Given the description of an element on the screen output the (x, y) to click on. 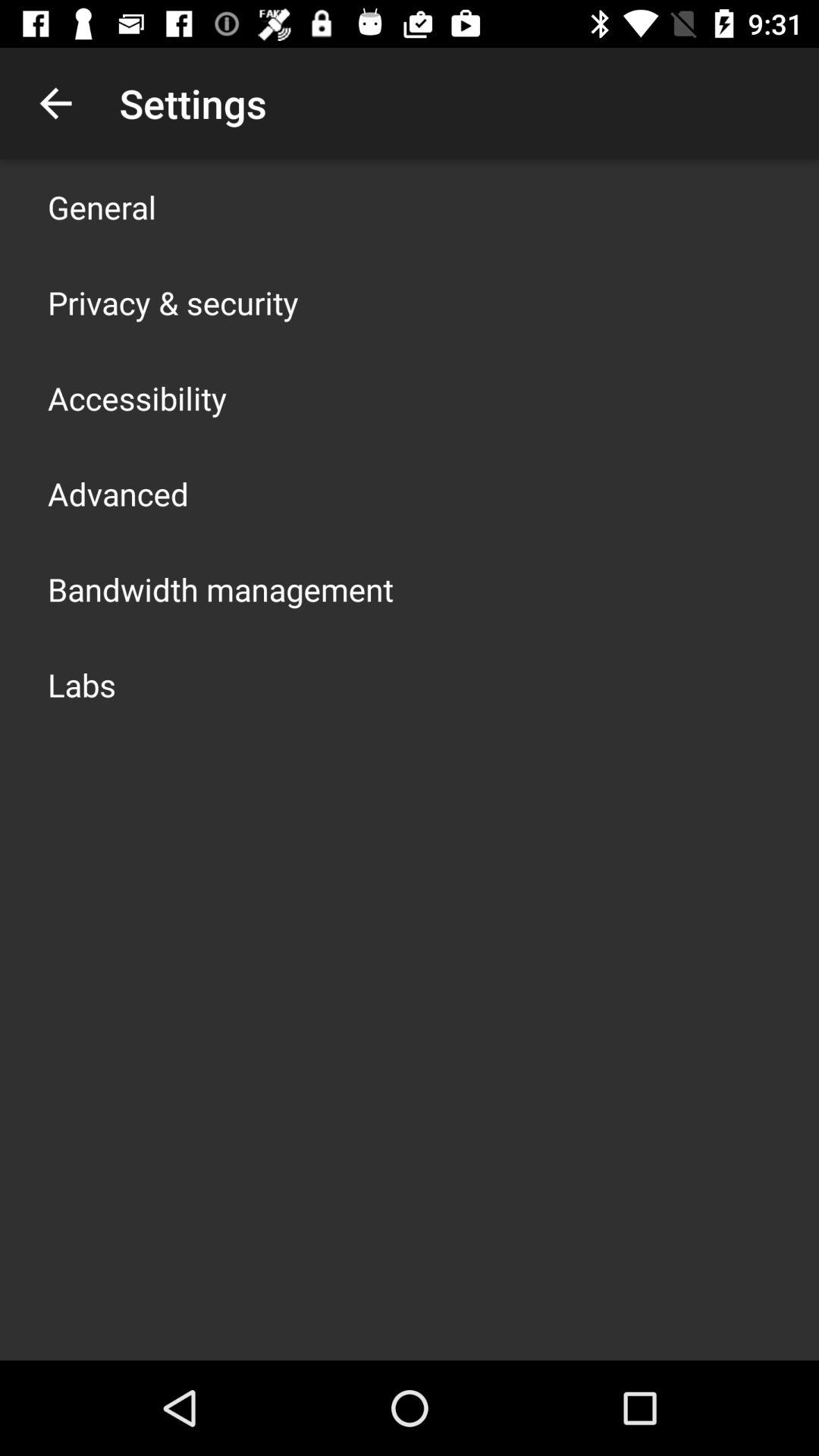
click the item next to the settings app (55, 103)
